Given the description of an element on the screen output the (x, y) to click on. 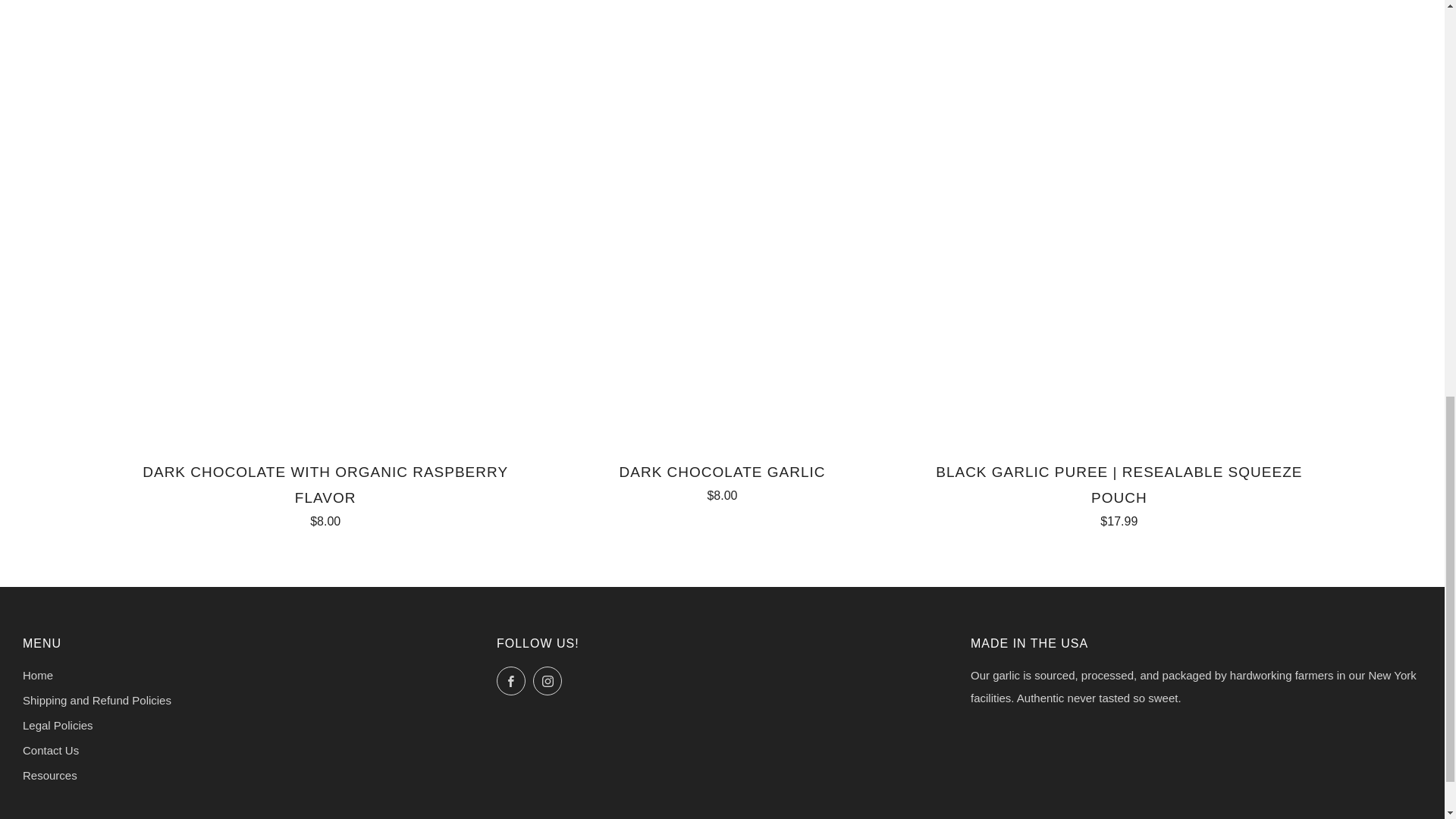
ADD TO CART (937, 140)
